Given the description of an element on the screen output the (x, y) to click on. 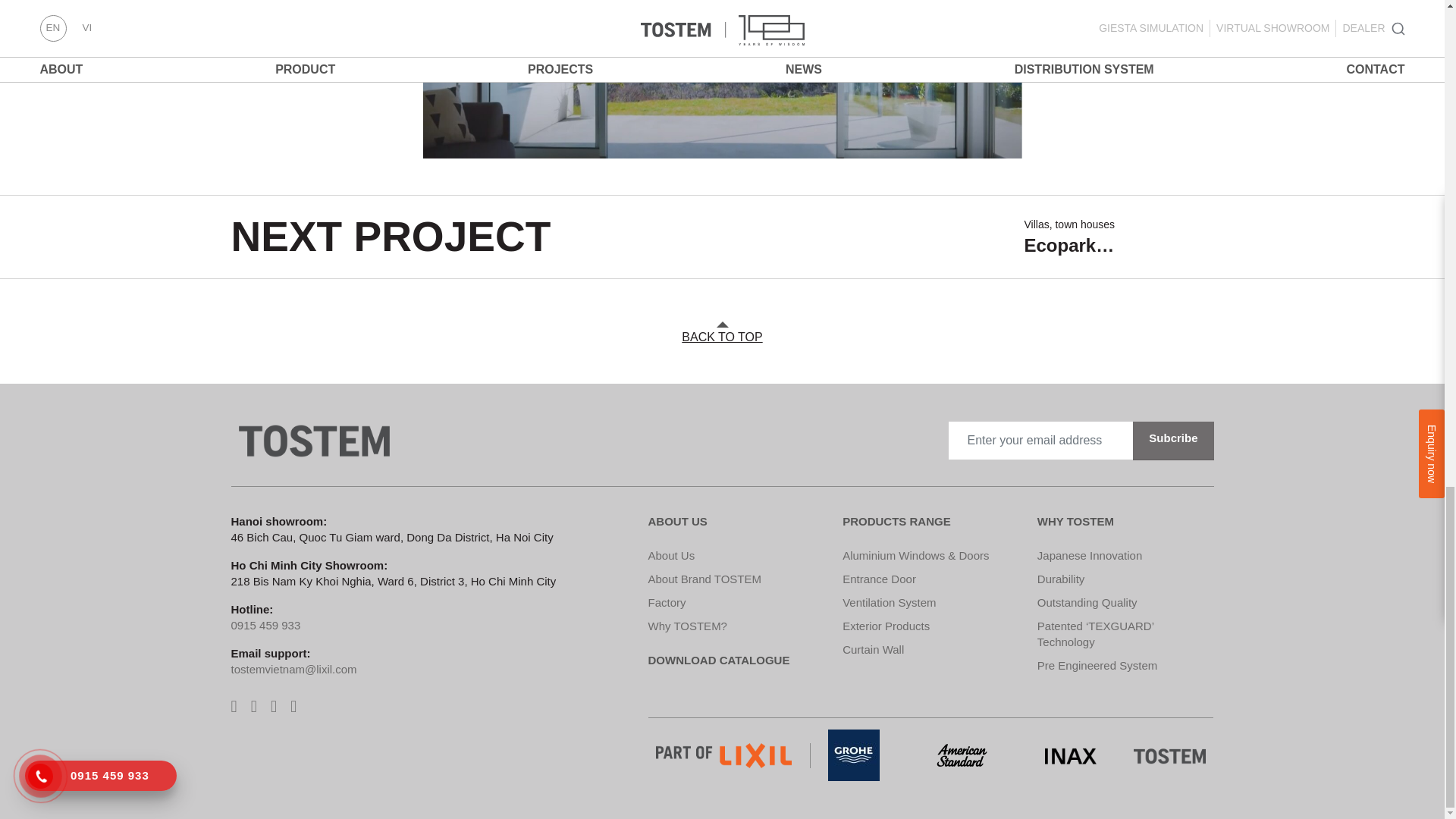
Subcribe (1172, 440)
